Given the description of an element on the screen output the (x, y) to click on. 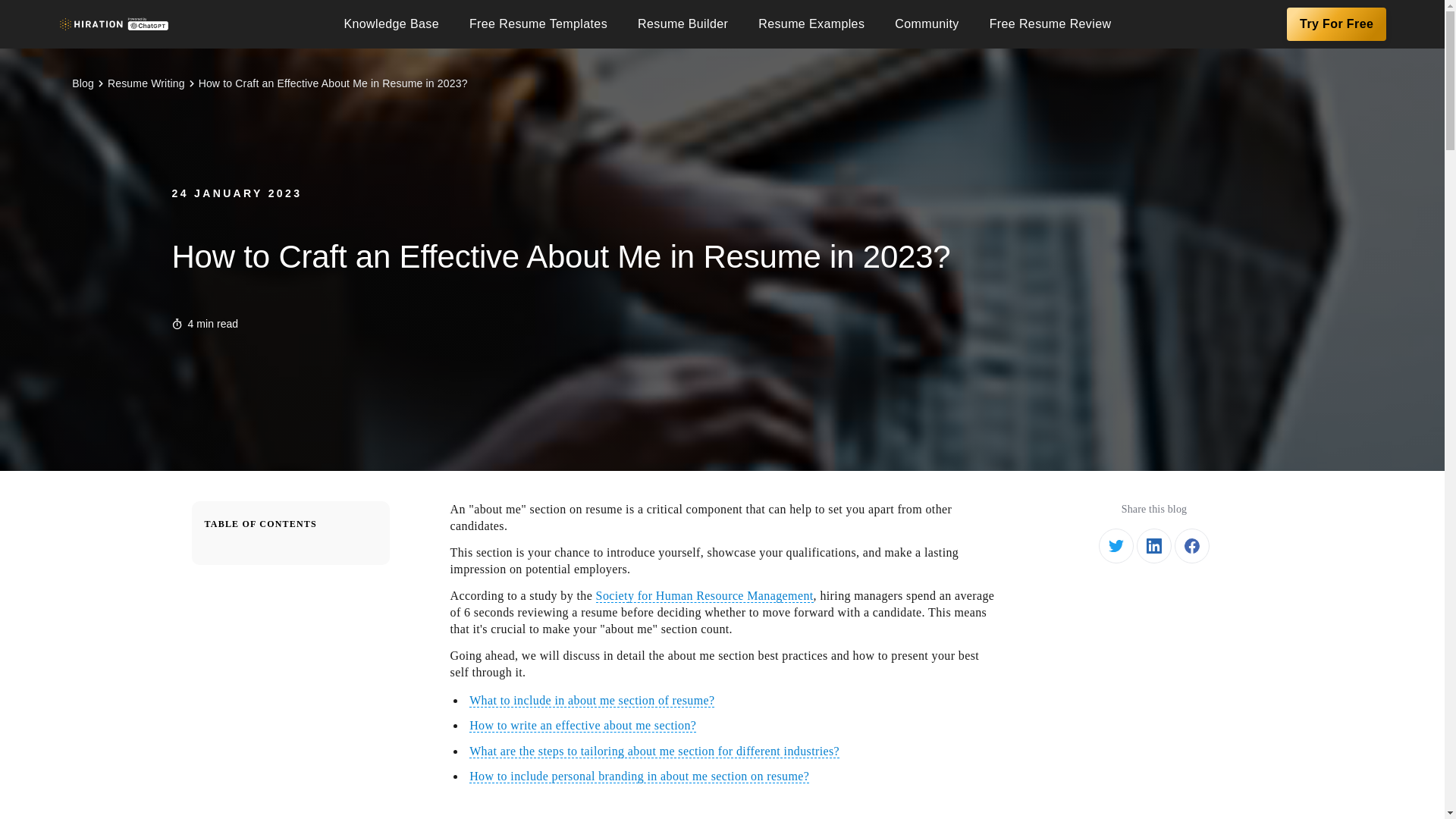
Try For Free (1336, 23)
Resume Builder (682, 23)
Community (926, 23)
Knowledge Base (390, 23)
How to write an effective about me section? (581, 725)
Resume Writing (145, 83)
Free Resume Review (1050, 23)
What to include in about me section of resume? (591, 700)
Society for Human Resource Management (704, 595)
